Given the description of an element on the screen output the (x, y) to click on. 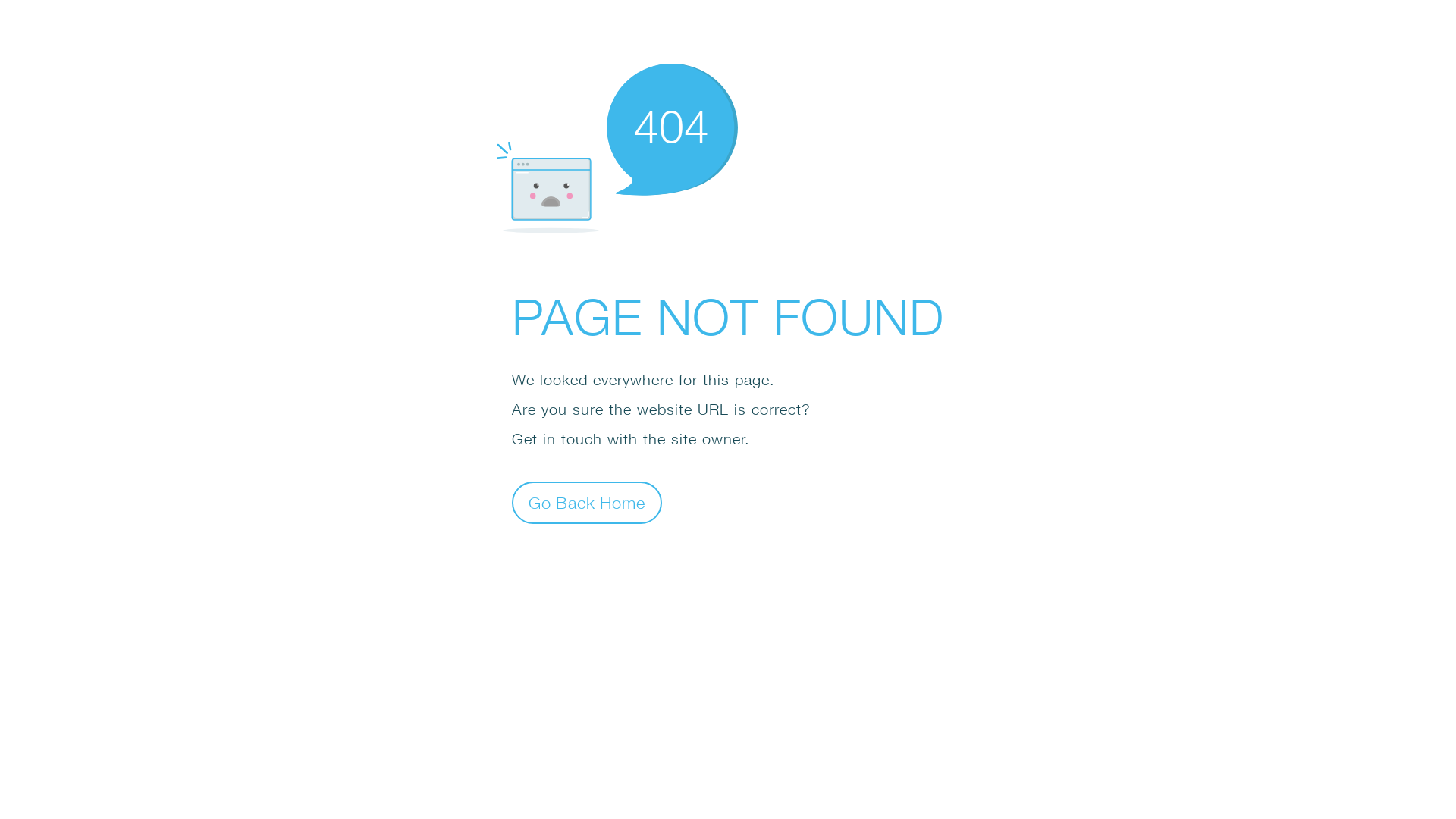
Go Back Home Element type: text (586, 502)
